Given the description of an element on the screen output the (x, y) to click on. 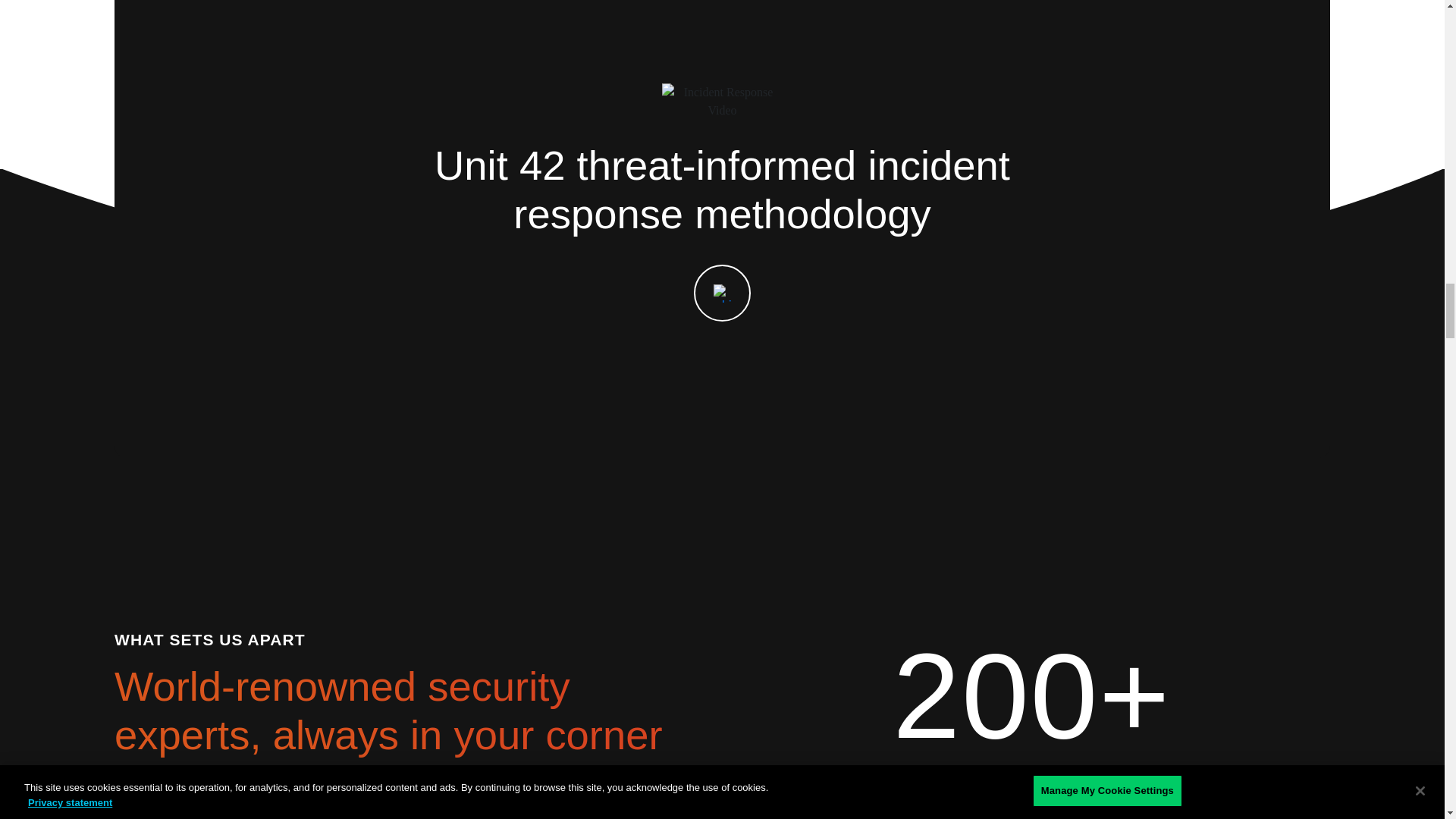
THREAT RESEARCHERS (1031, 781)
